Given the description of an element on the screen output the (x, y) to click on. 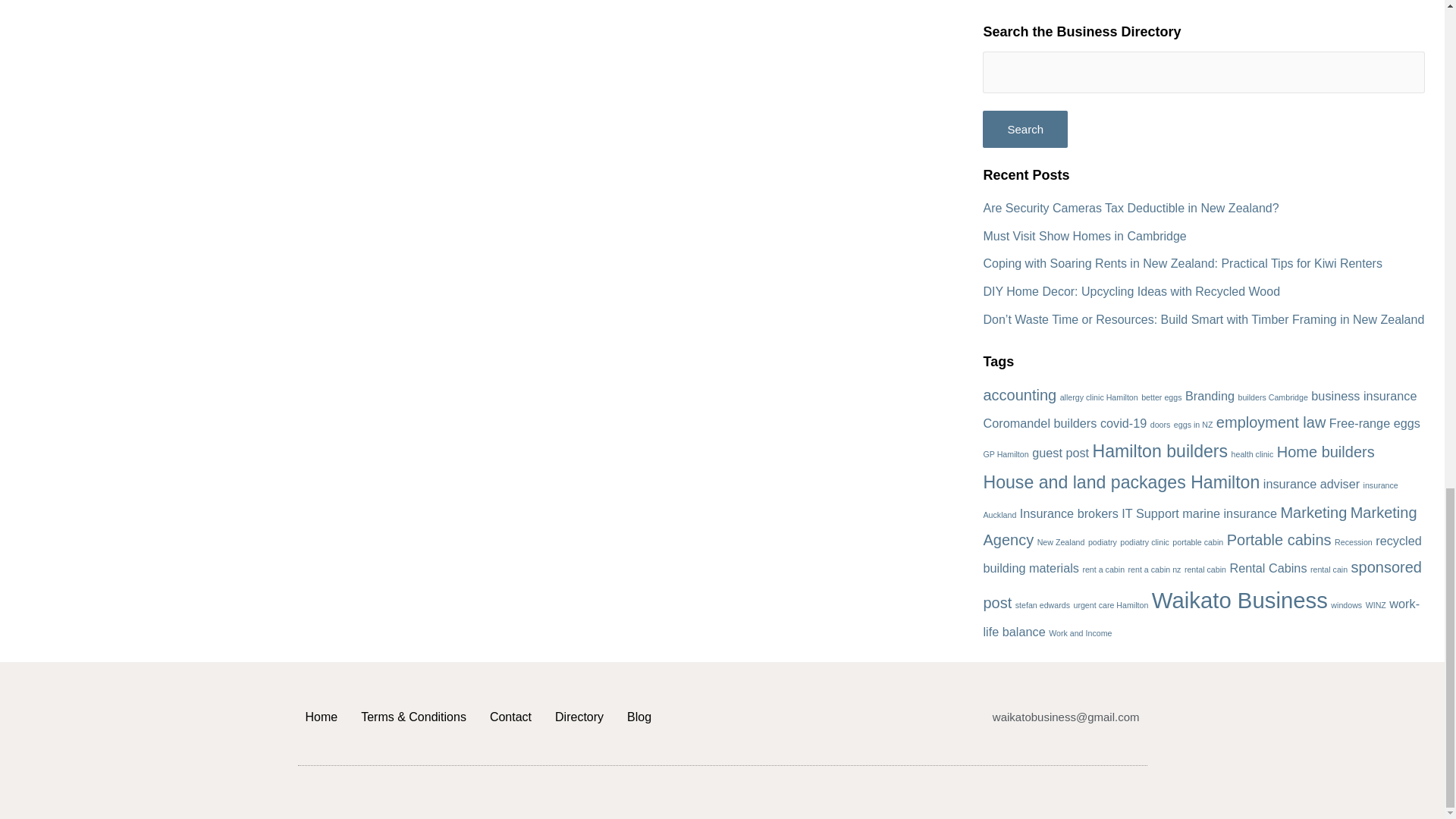
Search (1024, 129)
Search (1024, 129)
